Given the description of an element on the screen output the (x, y) to click on. 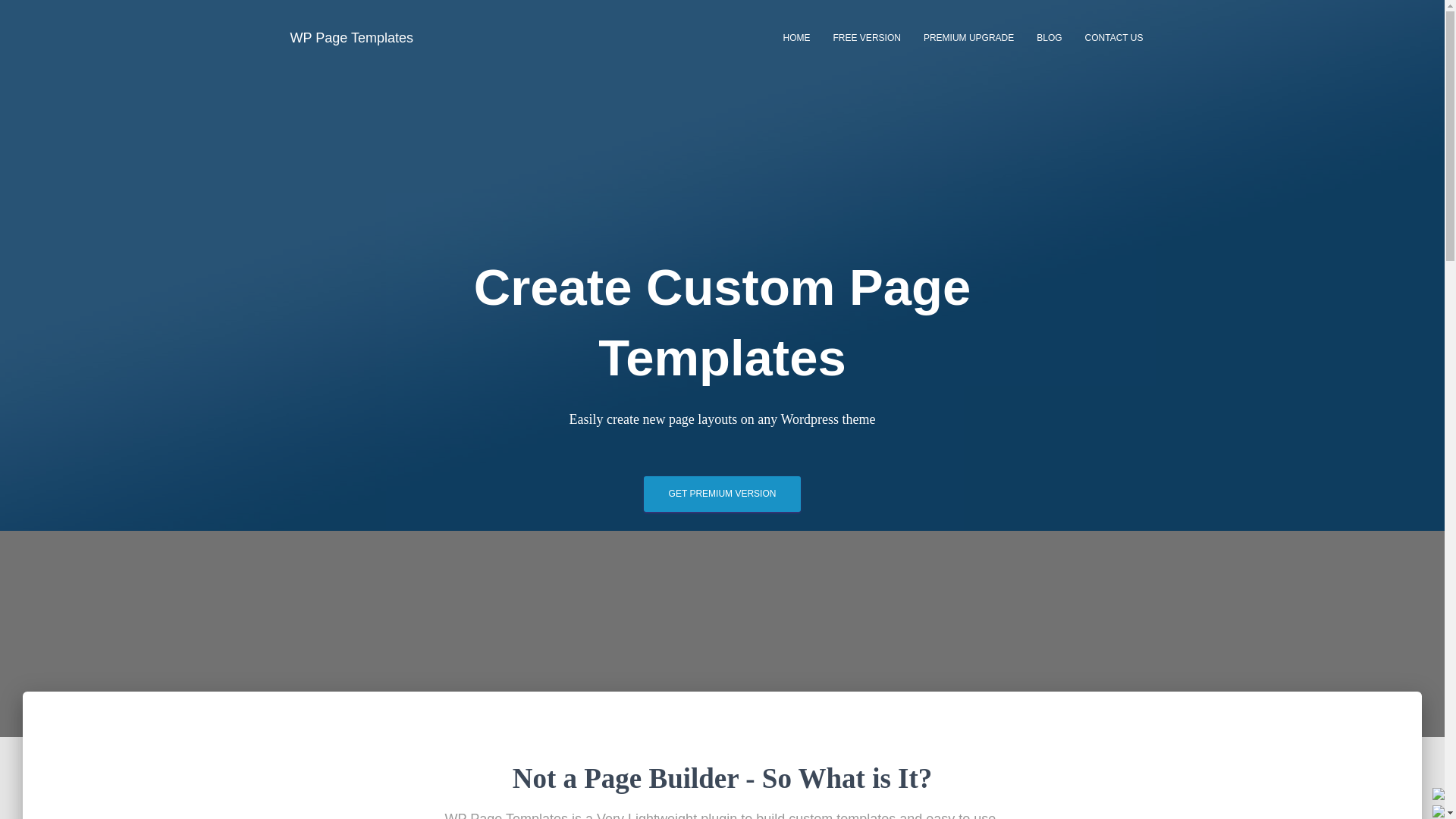
CONTACT US (1114, 37)
Blog (1049, 37)
Get Premium Version (722, 493)
GET PREMIUM VERSION (722, 493)
HOME (796, 37)
Premium Upgrade (968, 37)
Free Version (867, 37)
Contact Us (1114, 37)
FREE VERSION (867, 37)
Home (796, 37)
